Given the description of an element on the screen output the (x, y) to click on. 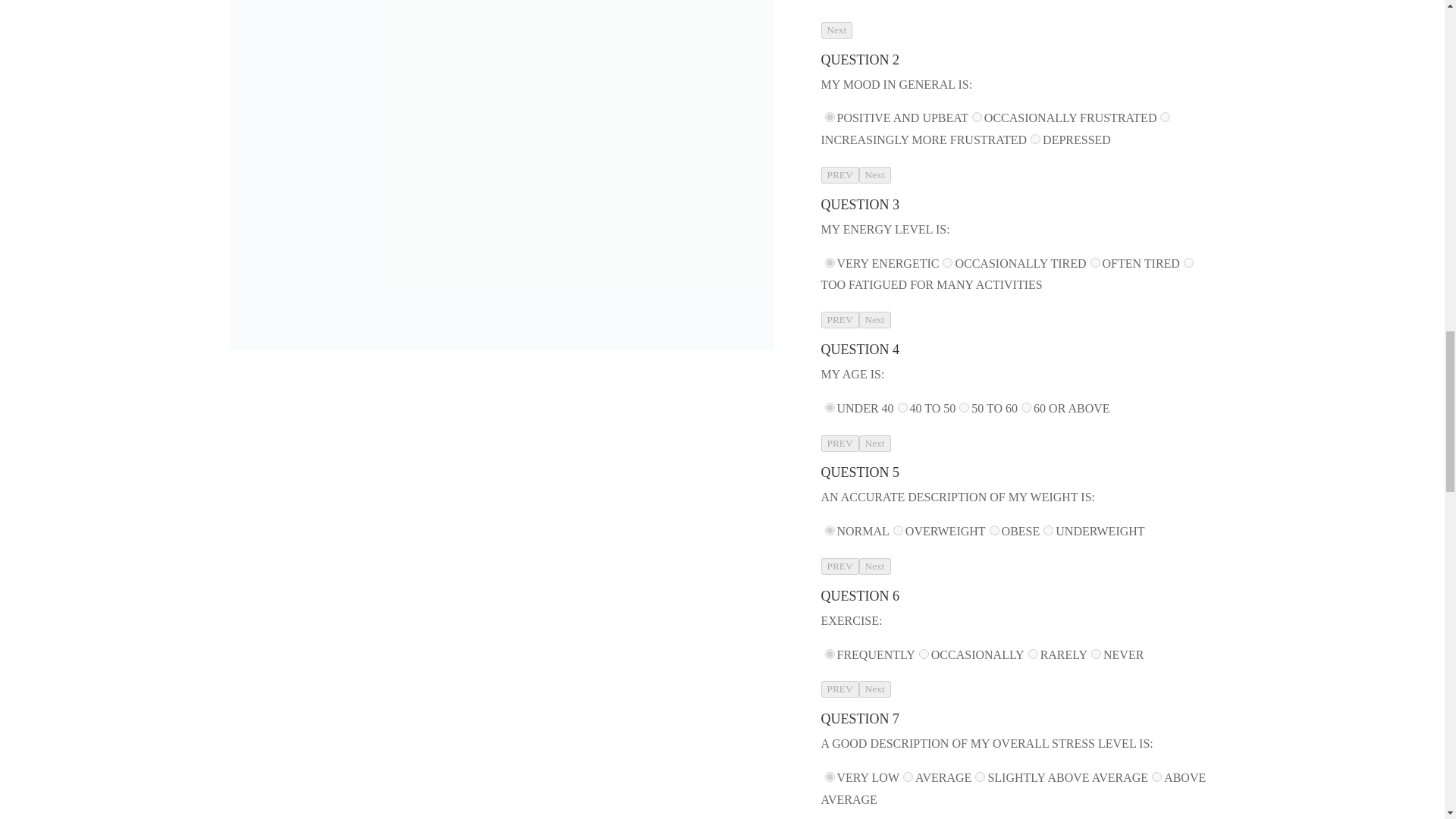
OVERWEIGHT (897, 530)
OBESE (994, 530)
OCCASIONALLY TIRED (947, 262)
DEPRESSED (1035, 139)
60 OR ABOVE (1026, 407)
VERY ENERGETIC (829, 262)
40 TO 50 (902, 407)
50 TO 60 (964, 407)
INCREASINGLY MORE FRUSTRATED (1165, 117)
